Given the description of an element on the screen output the (x, y) to click on. 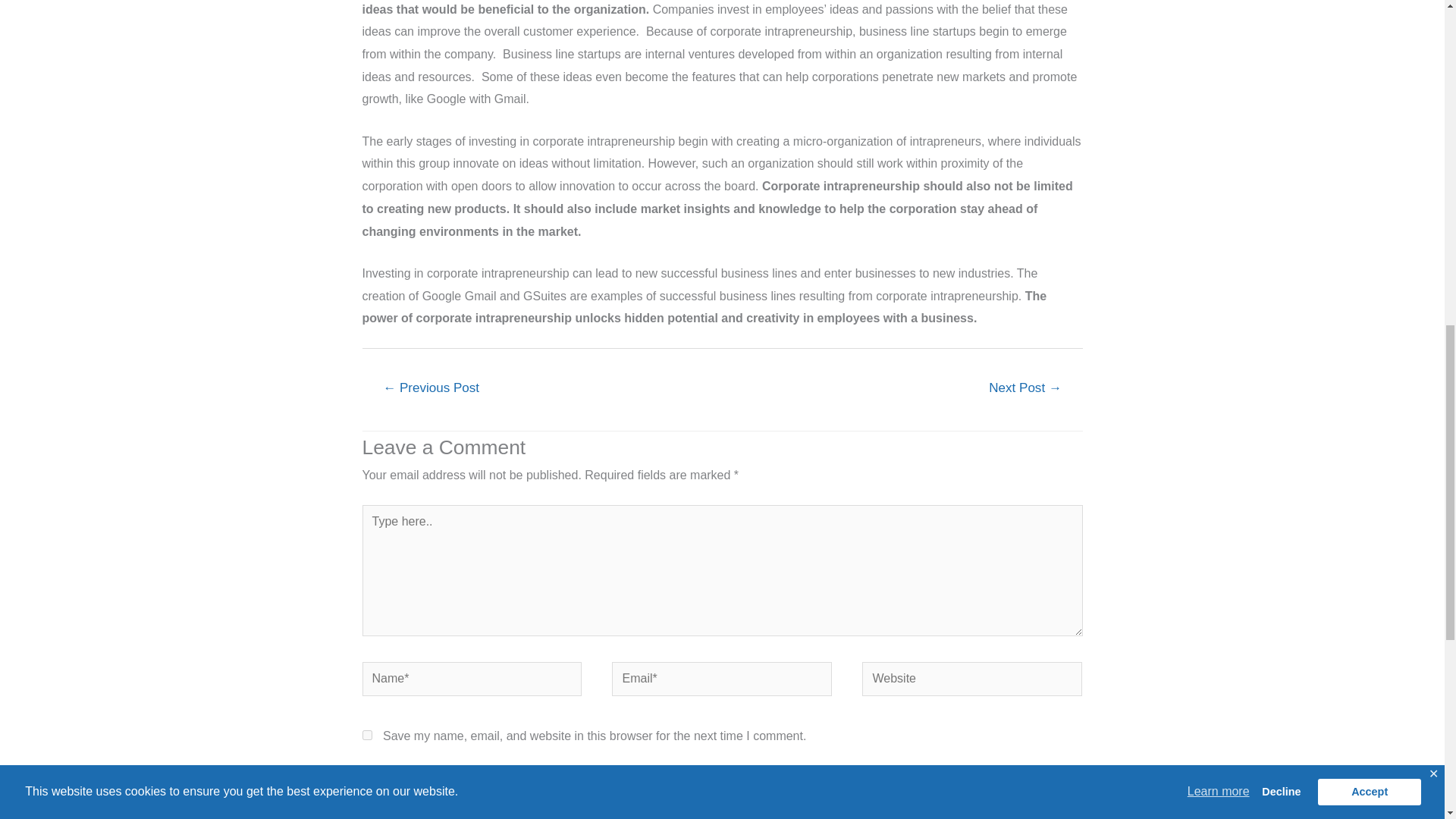
yes (367, 735)
1 (367, 777)
